Given the description of an element on the screen output the (x, y) to click on. 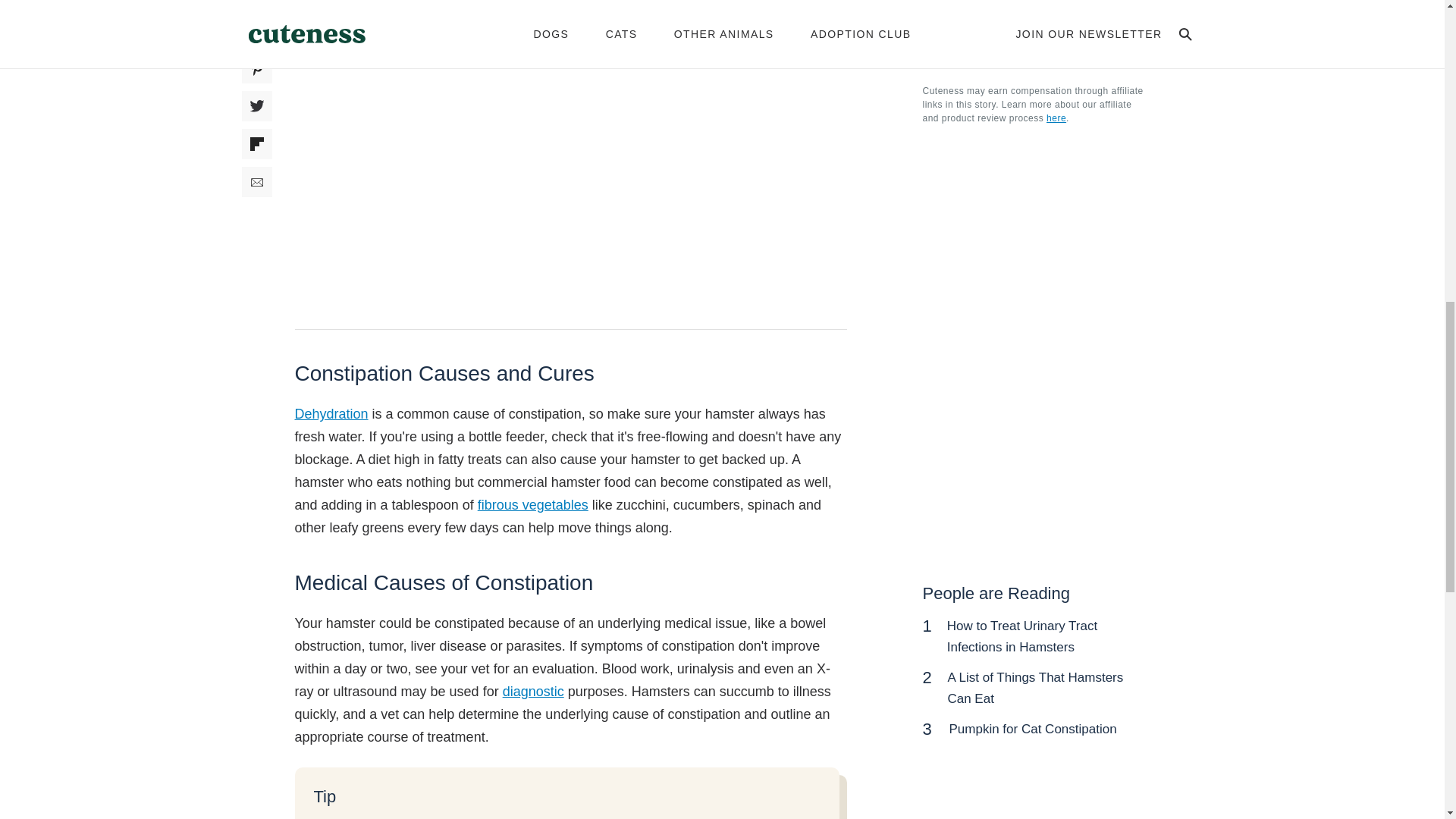
A List of Things That Hamsters Can Eat (1034, 687)
How to Treat Urinary Tract Infections in Hamsters (1022, 636)
Pumpkin for Cat Constipation (1032, 728)
